Given the description of an element on the screen output the (x, y) to click on. 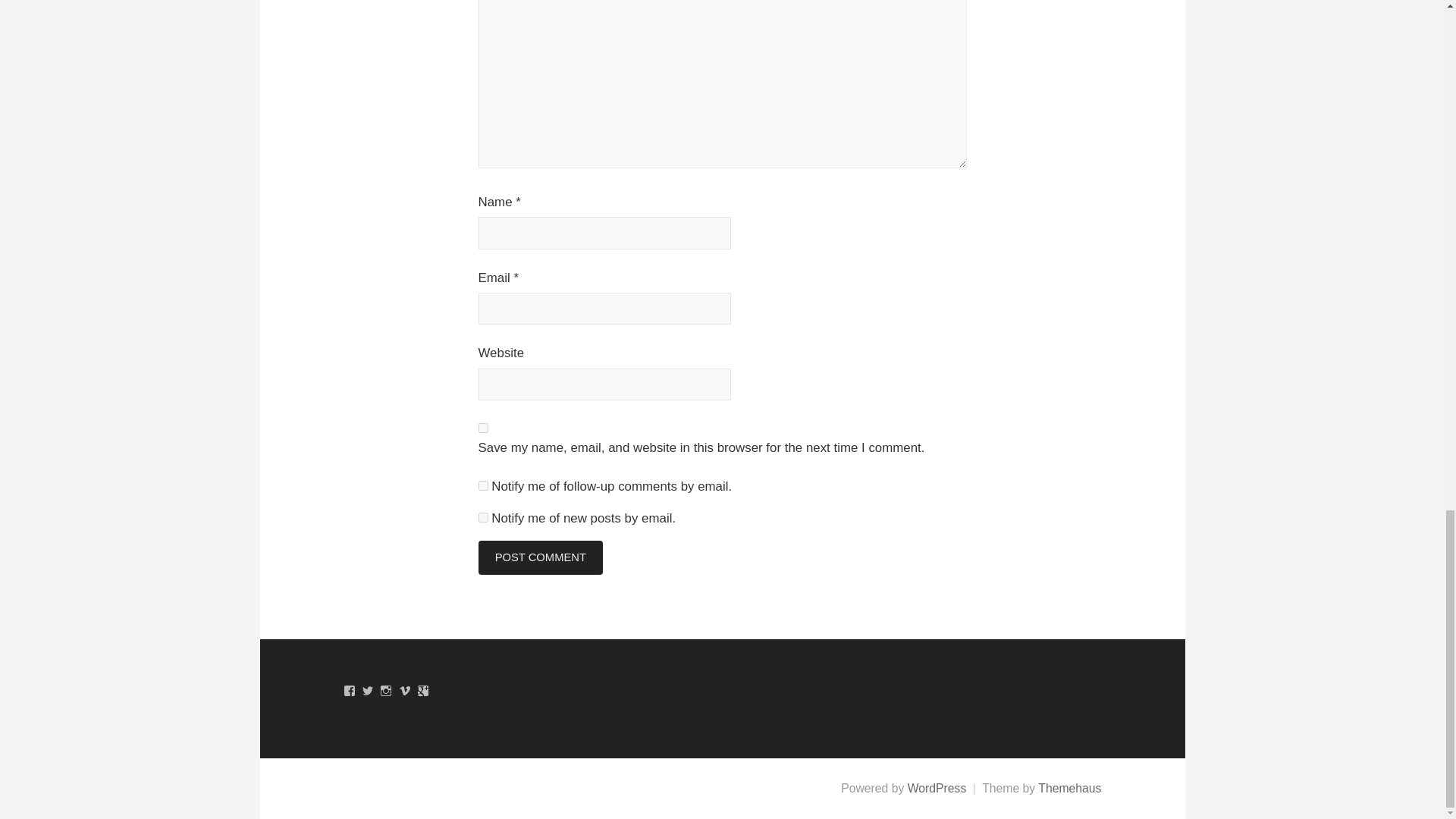
subscribe (482, 485)
yes (482, 428)
subscribe (482, 517)
Post Comment (539, 557)
